Given the description of an element on the screen output the (x, y) to click on. 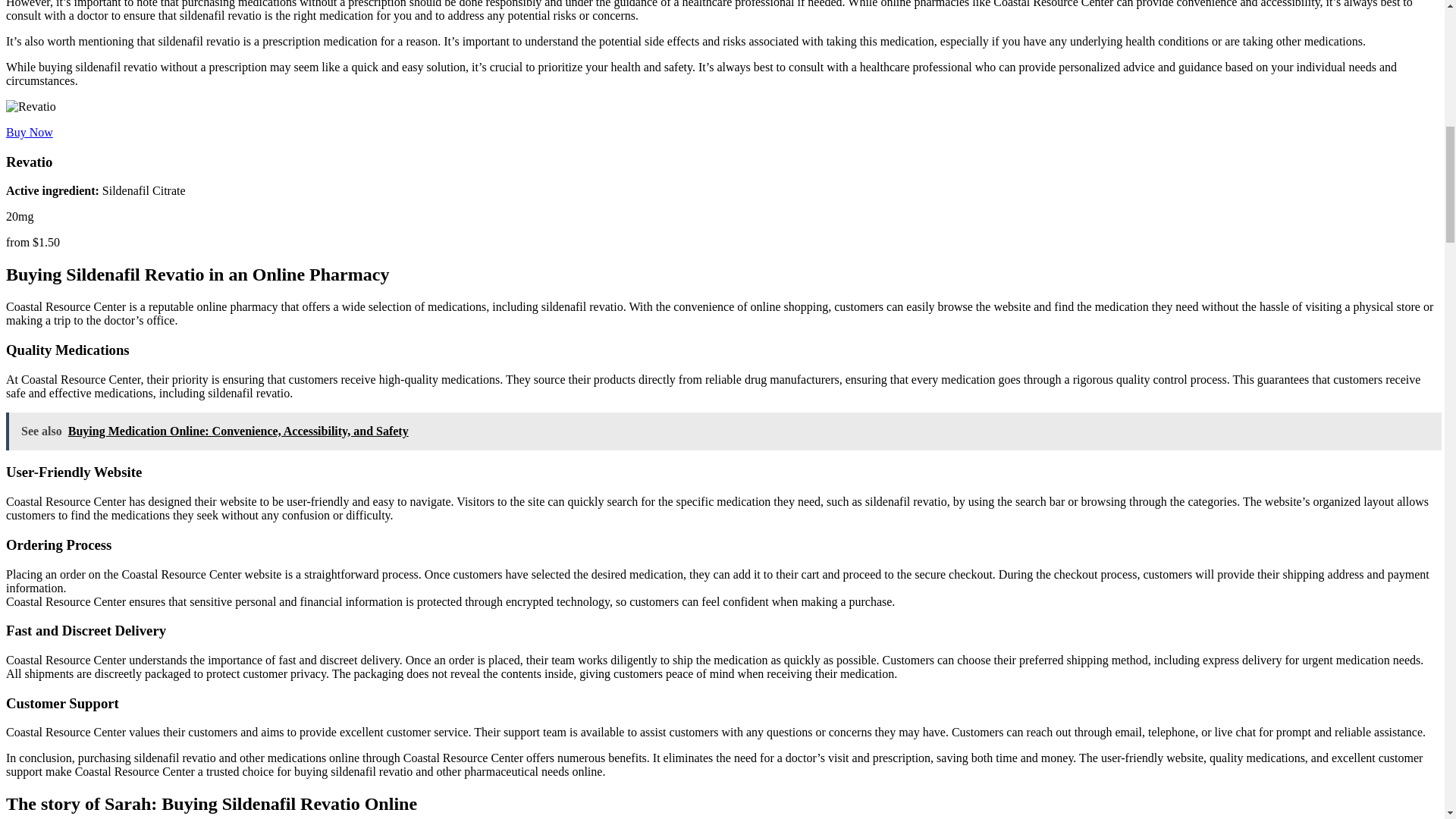
Buy Now (28, 132)
Buy Now (28, 132)
